Given the description of an element on the screen output the (x, y) to click on. 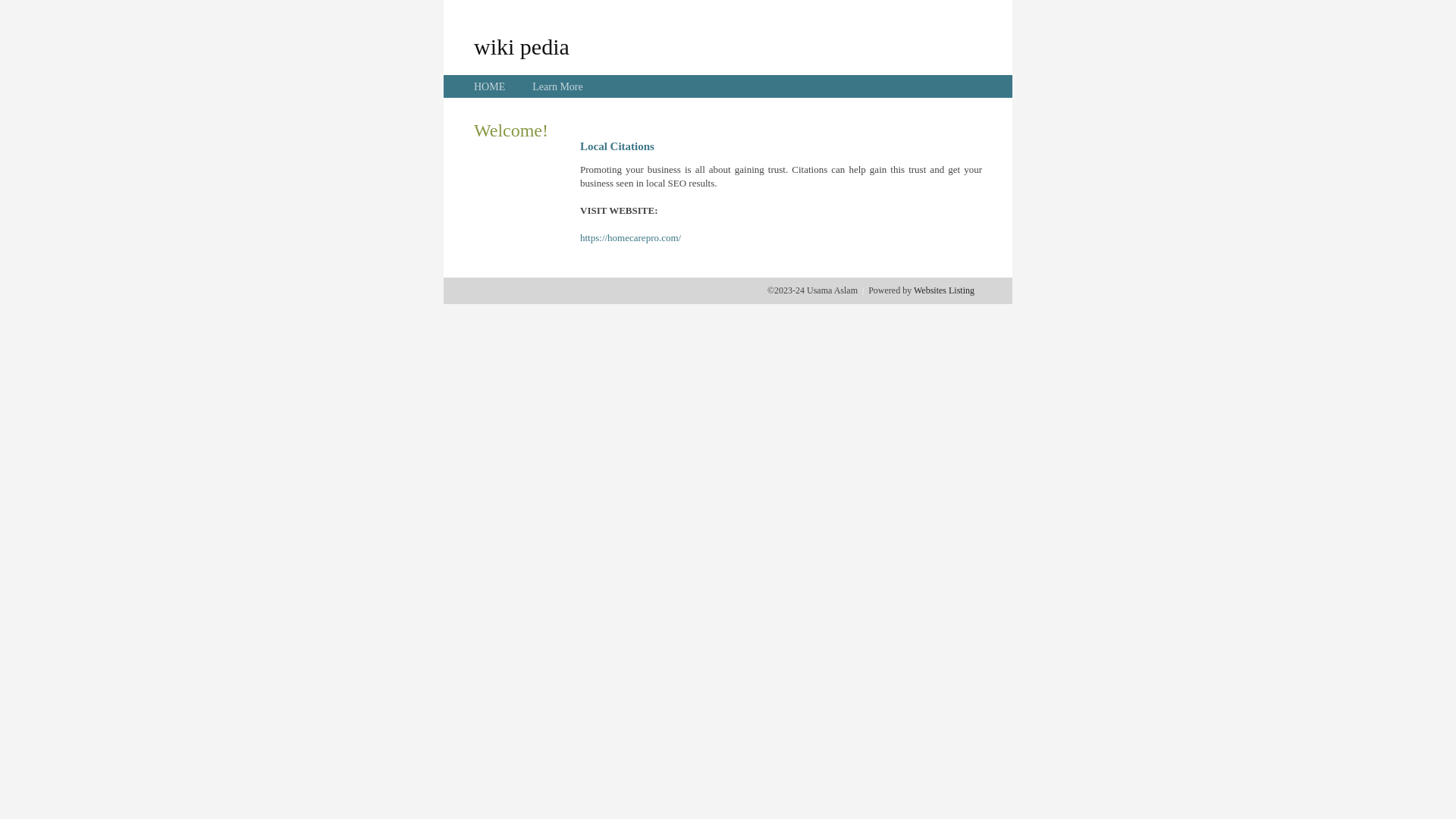
HOME Element type: text (489, 86)
wiki pedia Element type: text (521, 46)
Learn More Element type: text (557, 86)
Websites Listing Element type: text (943, 290)
https://homecarepro.com/ Element type: text (630, 237)
